Given the description of an element on the screen output the (x, y) to click on. 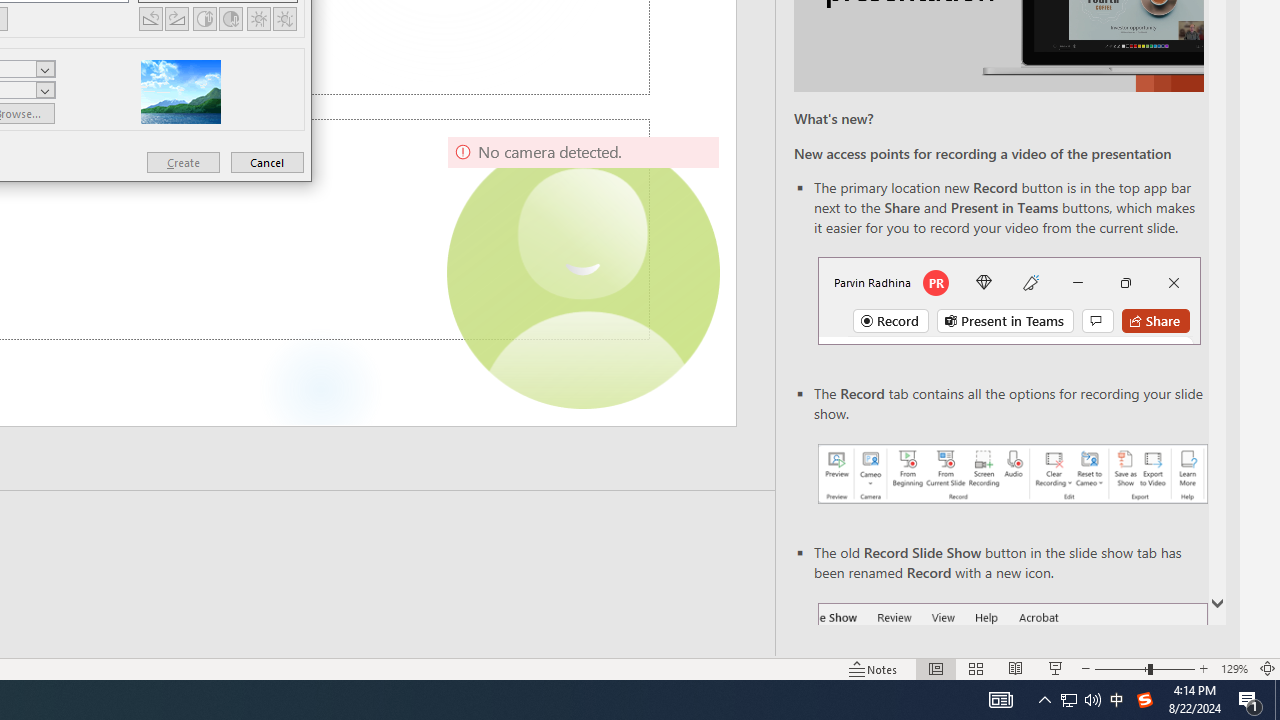
Zoom 129% (1234, 668)
Record button in top bar (1008, 300)
Create (183, 162)
